Given the description of an element on the screen output the (x, y) to click on. 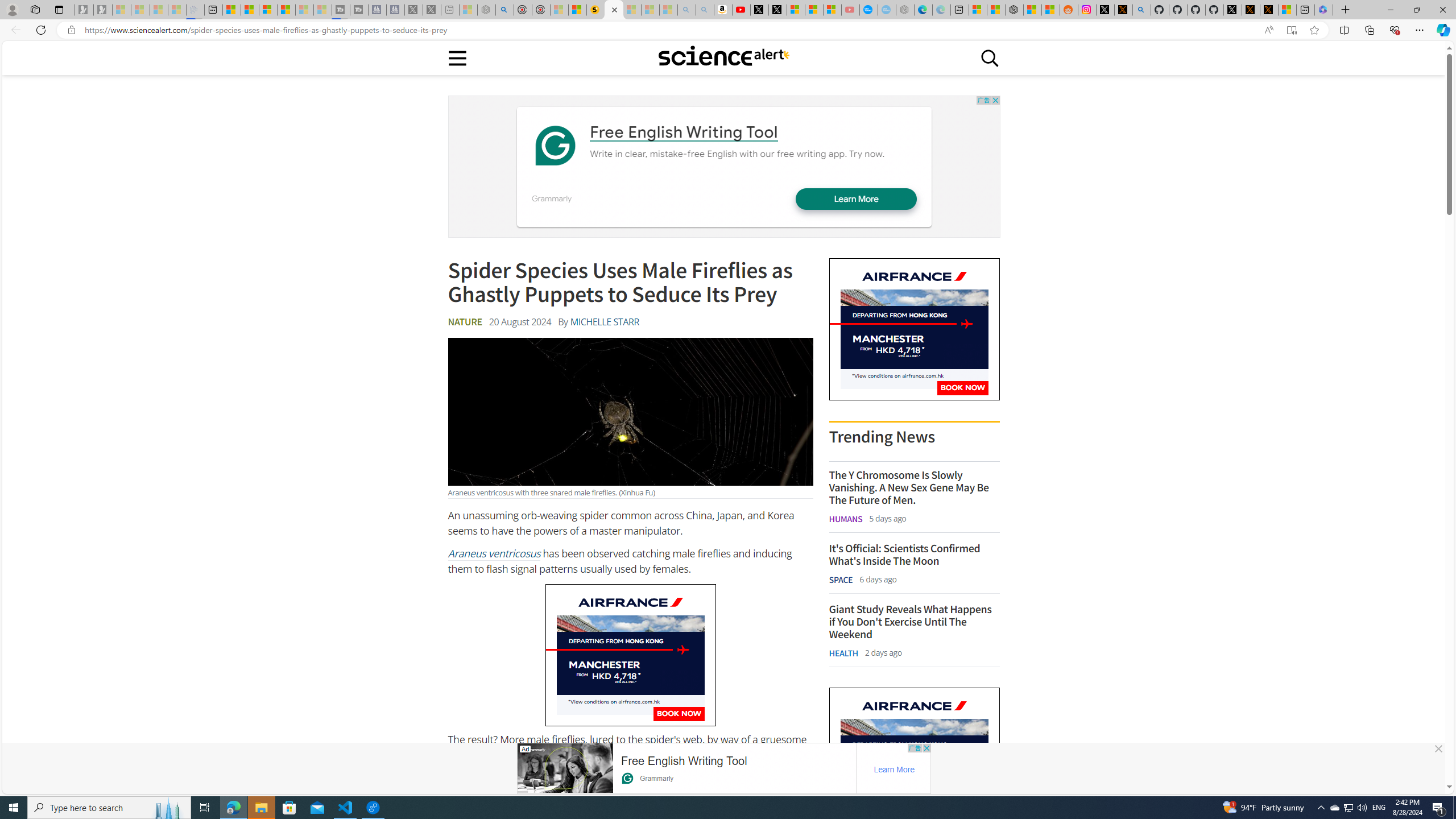
It's Official: Scientists Confirmed What's Inside The Moon (914, 554)
The most popular Google 'how to' searches - Sleeping (887, 9)
Class: sciencealert-logo-desktop-svg  (723, 55)
Log in to X / X (1105, 9)
ScienceAlert homepage (723, 57)
Araneus ventricosus (493, 553)
Nordace - Duffels (1013, 9)
